Given the description of an element on the screen output the (x, y) to click on. 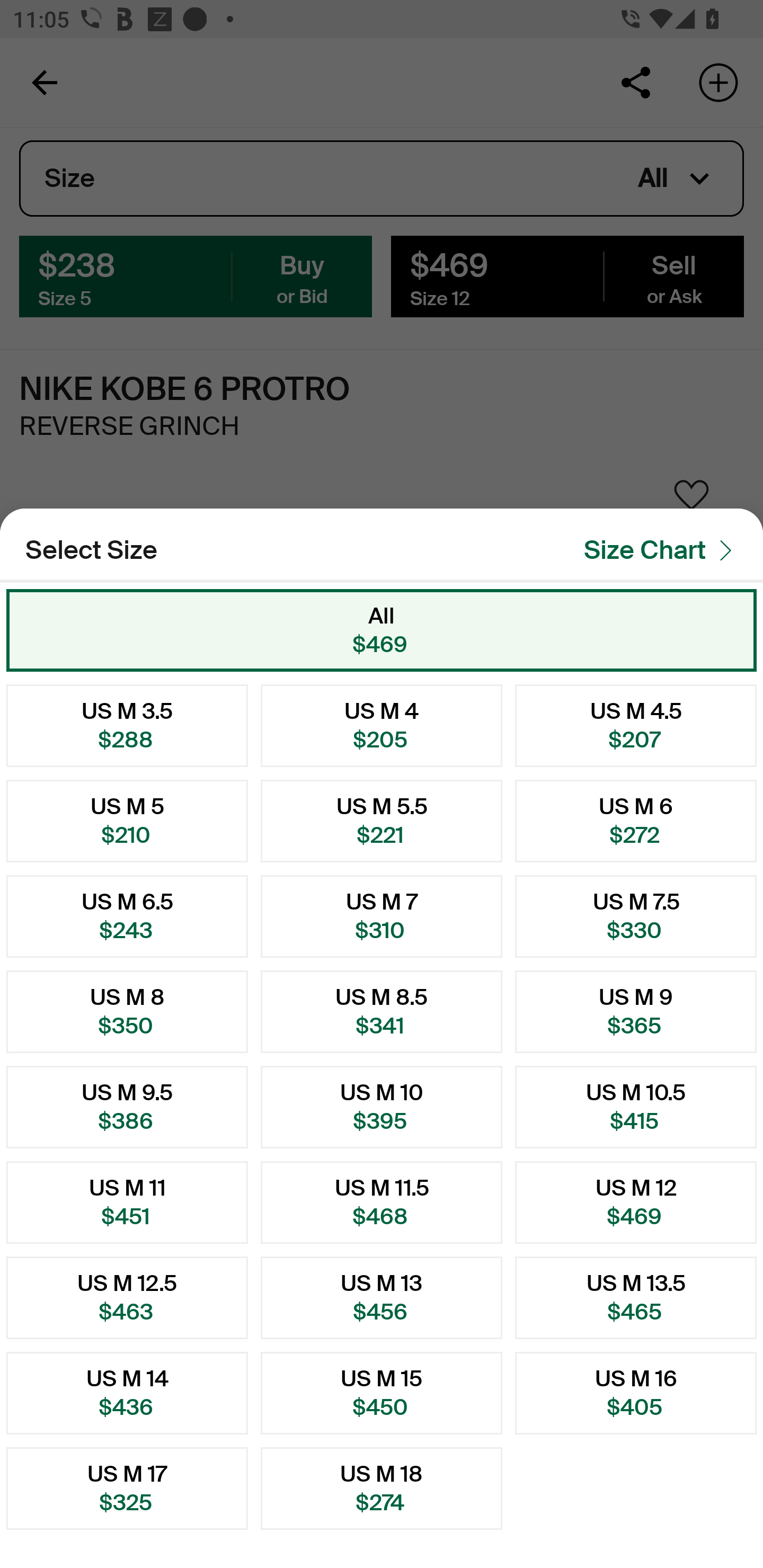
Size Chart (663, 550)
All $469 (381, 630)
US M 3.5 $288 (126, 724)
US M 4 $205 (381, 724)
US M 4.5 $207 (635, 724)
US M 5 $210 (126, 820)
US M 5.5 $221 (381, 820)
US M 6 $272 (635, 820)
US M 6.5 $243 (126, 916)
US M 7 $310 (381, 916)
US M 7.5 $330 (635, 916)
US M 8 $350 (126, 1011)
US M 8.5 $341 (381, 1011)
US M 9 $365 (635, 1011)
US M 9.5 $386 (126, 1106)
US M 10 $395 (381, 1106)
US M 10.5 $415 (635, 1106)
US M 11 $451 (126, 1202)
US M 11.5 $468 (381, 1202)
US M 12 $469 (635, 1202)
US M 12.5 $463 (126, 1297)
US M 13 $456 (381, 1297)
US M 13.5 $465 (635, 1297)
US M 14 $436 (126, 1392)
US M 15 $450 (381, 1392)
US M 16 $405 (635, 1392)
US M 17 $325 (126, 1488)
US M 18 $274 (381, 1488)
